Given the description of an element on the screen output the (x, y) to click on. 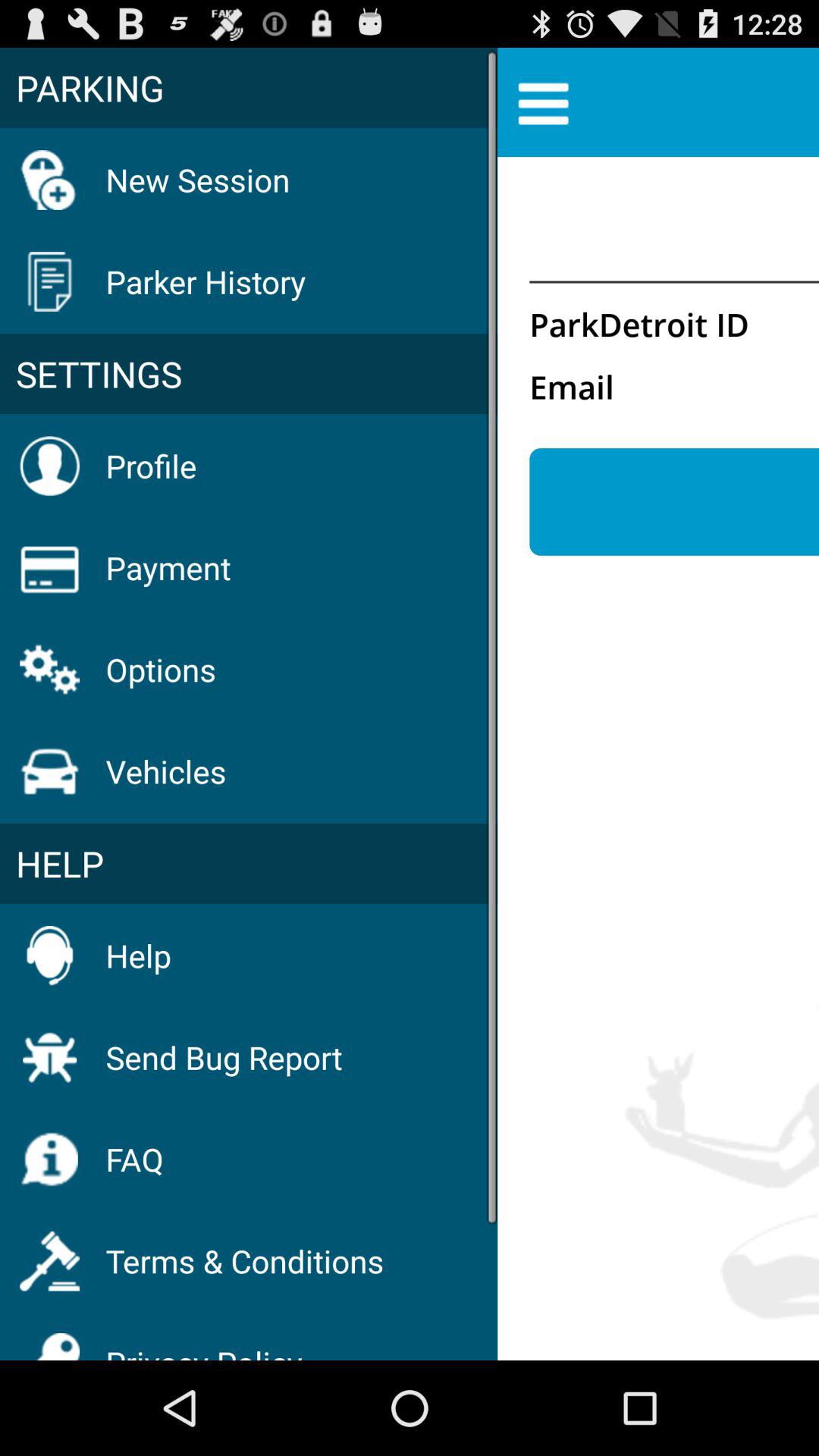
select item at the top (543, 101)
